Given the description of an element on the screen output the (x, y) to click on. 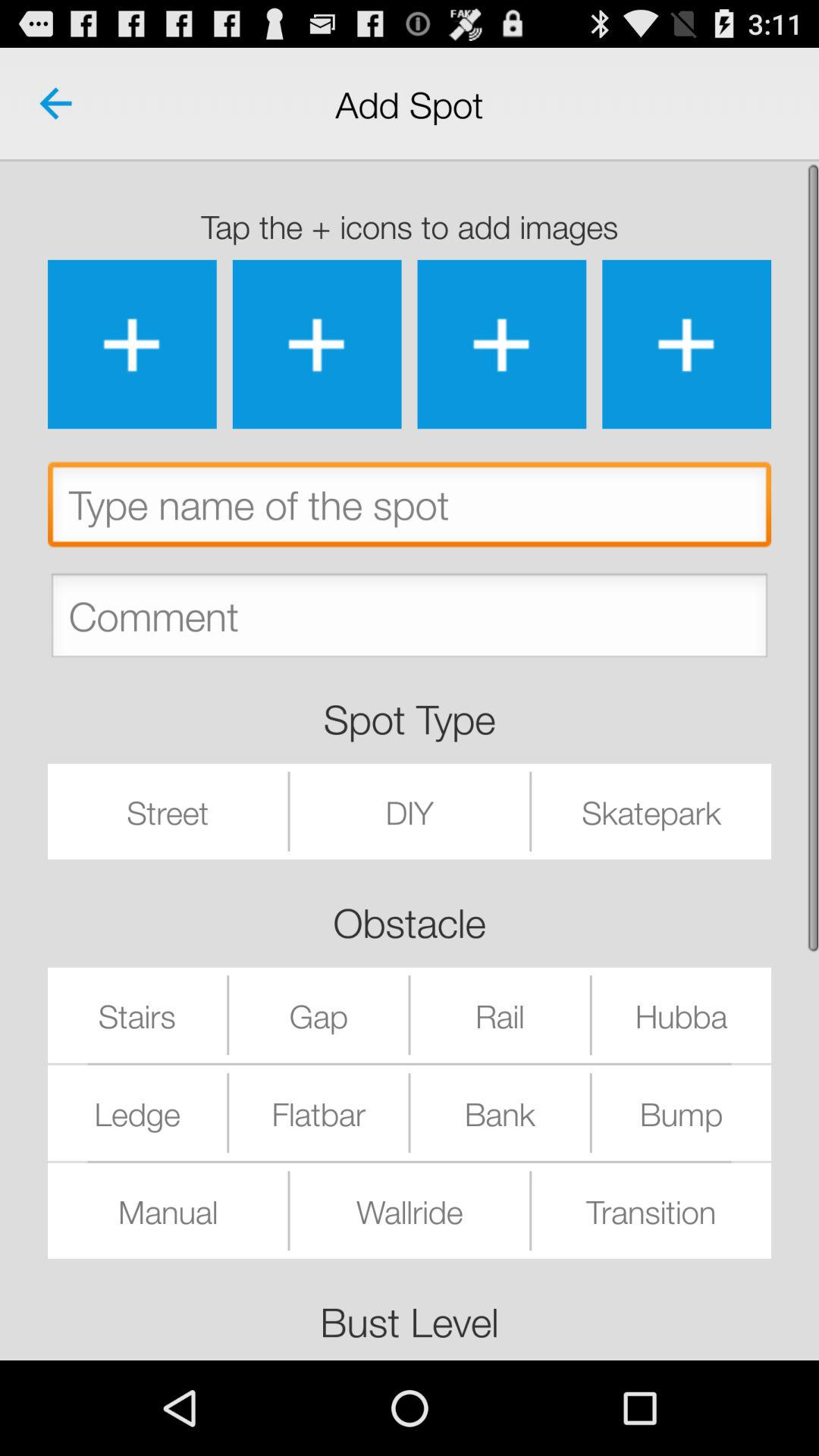
flip to the hubba icon (681, 1014)
